Given the description of an element on the screen output the (x, y) to click on. 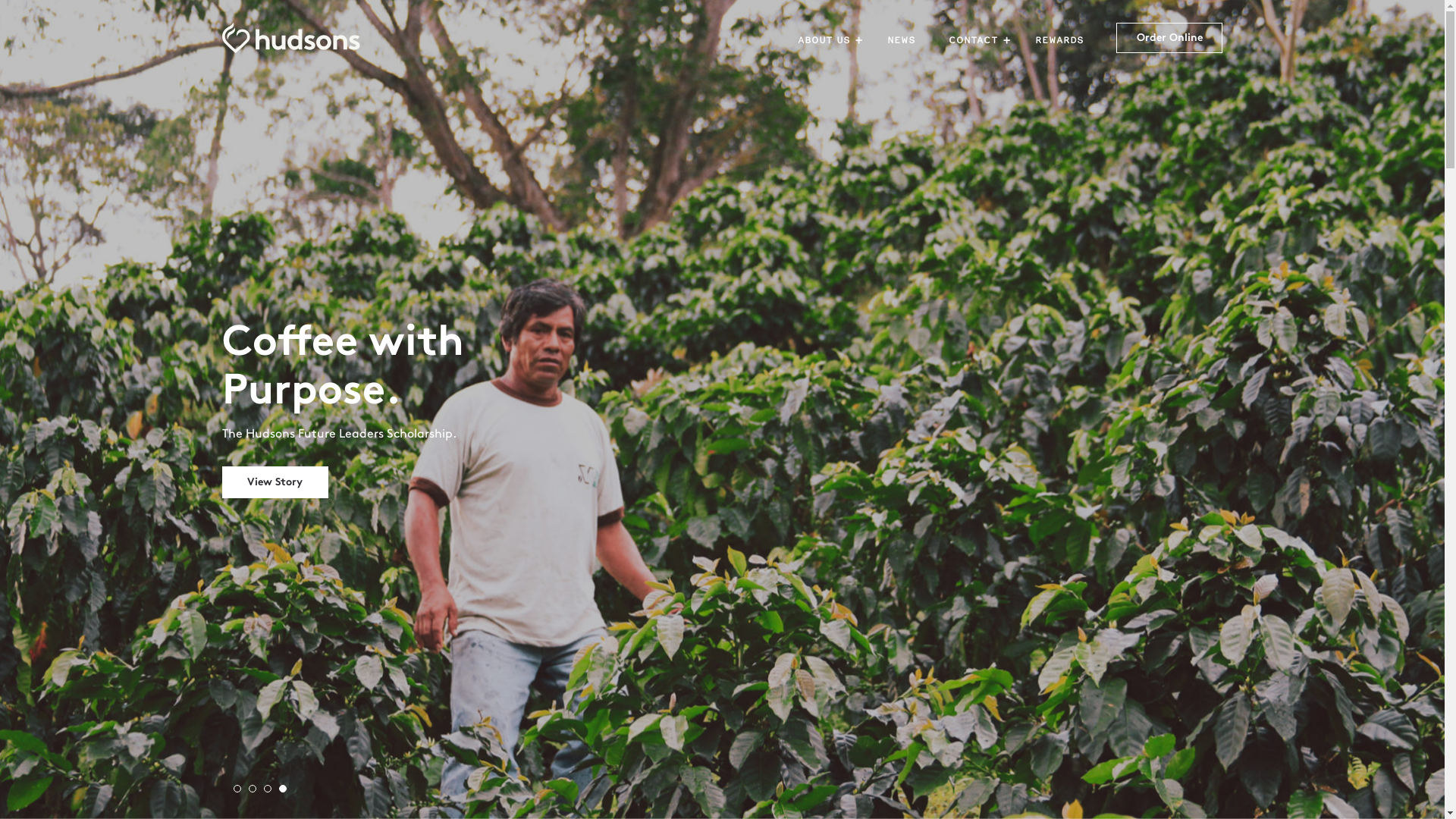
2 Element type: text (255, 792)
1 Element type: text (240, 792)
4 Element type: text (286, 792)
View Story Element type: text (274, 482)
REWARDS Element type: text (1063, 39)
NEWS Element type: text (905, 39)
ABOUT US Element type: text (829, 39)
Order Online Element type: text (1169, 37)
3 Element type: text (271, 792)
CONTACT Element type: text (979, 39)
